Given the description of an element on the screen output the (x, y) to click on. 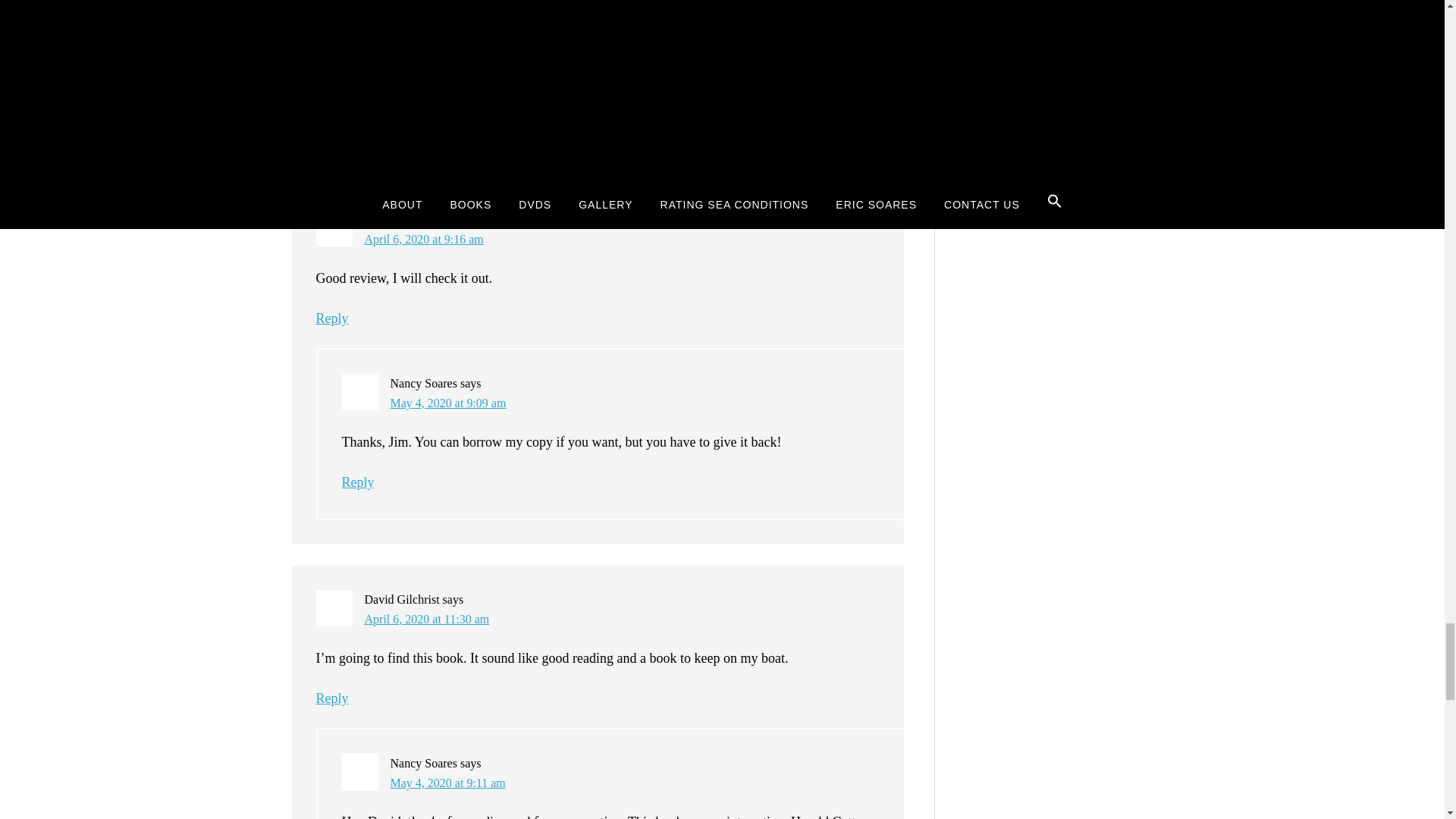
April 6, 2020 at 11:30 am (426, 618)
Reply (331, 698)
May 4, 2020 at 9:09 am (447, 402)
Reply (331, 318)
Reply (357, 102)
April 6, 2020 at 9:16 am (423, 238)
Reply (357, 482)
